Given the description of an element on the screen output the (x, y) to click on. 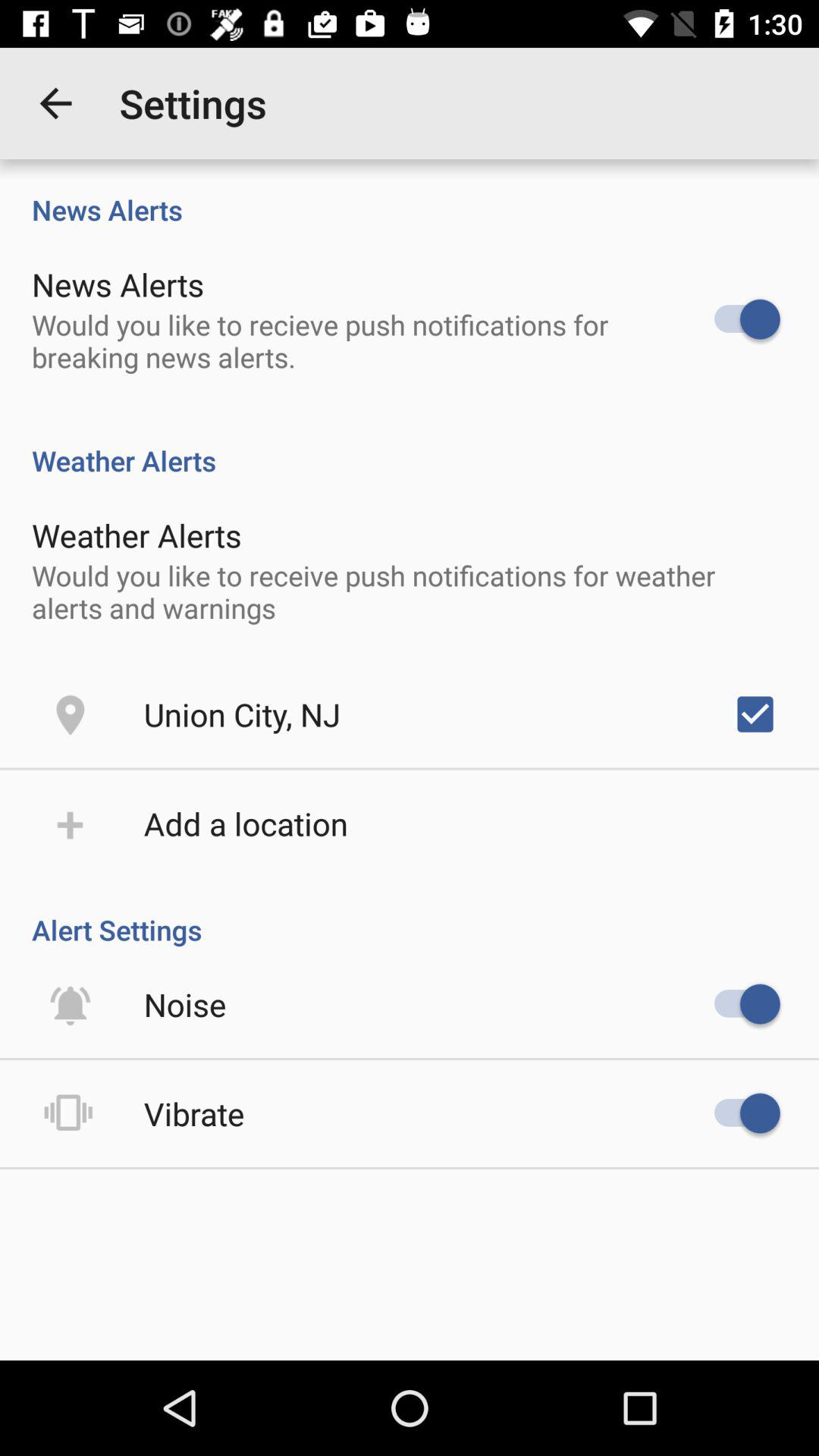
turn on vibrate (193, 1113)
